Given the description of an element on the screen output the (x, y) to click on. 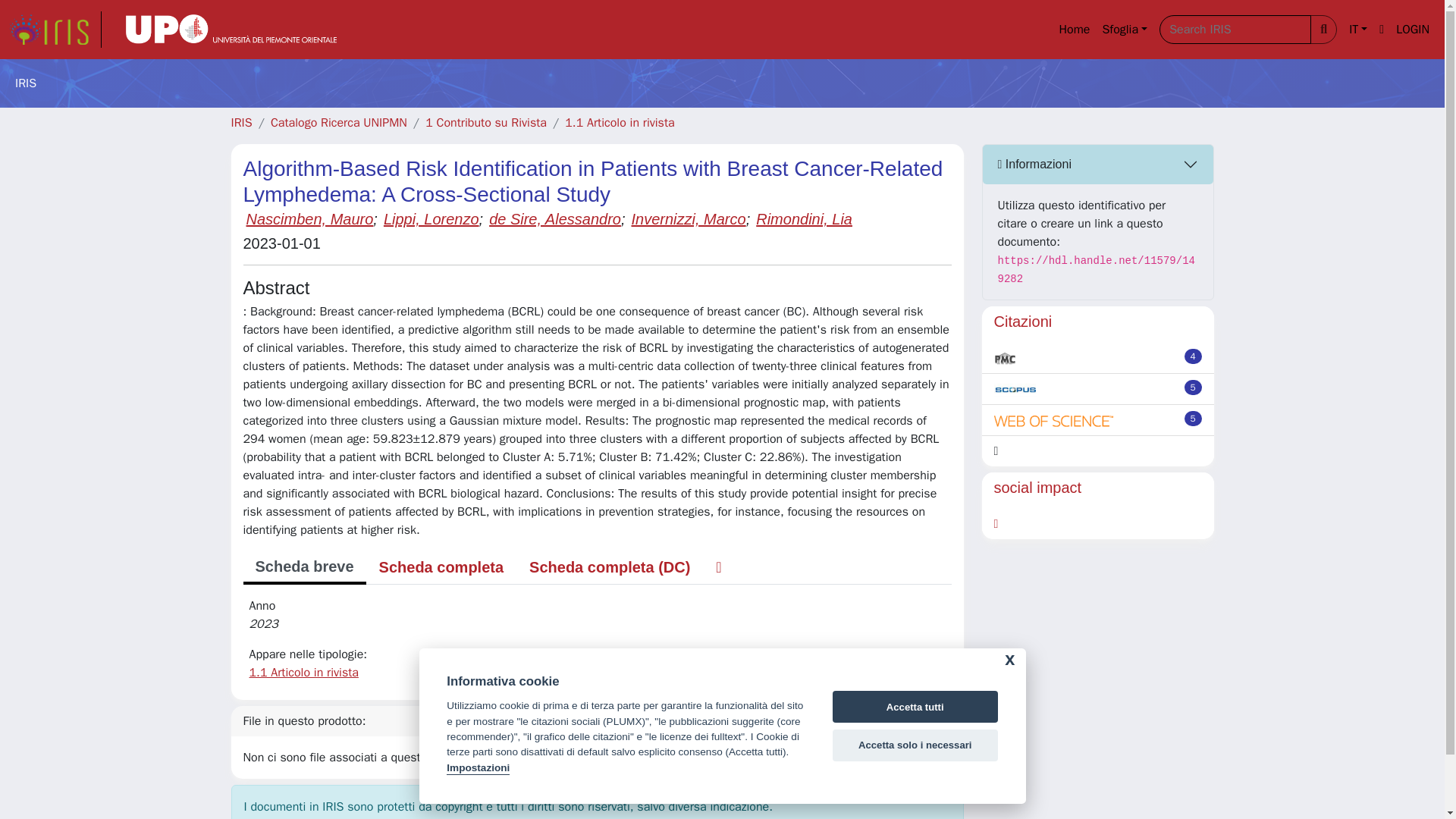
Sfoglia (1124, 29)
1 Contributo su Rivista (486, 122)
IT (1357, 29)
Rimondini, Lia (803, 218)
Catalogo Ricerca UNIPMN (338, 122)
de Sire, Alessandro (555, 218)
Nascimben, Mauro (309, 218)
Home (1074, 29)
 Informazioni (1097, 164)
Lippi, Lorenzo (431, 218)
LOGIN (1412, 29)
Scheda completa (441, 567)
1.1 Articolo in rivista (303, 672)
1.1 Articolo in rivista (619, 122)
Scheda breve (304, 567)
